Given the description of an element on the screen output the (x, y) to click on. 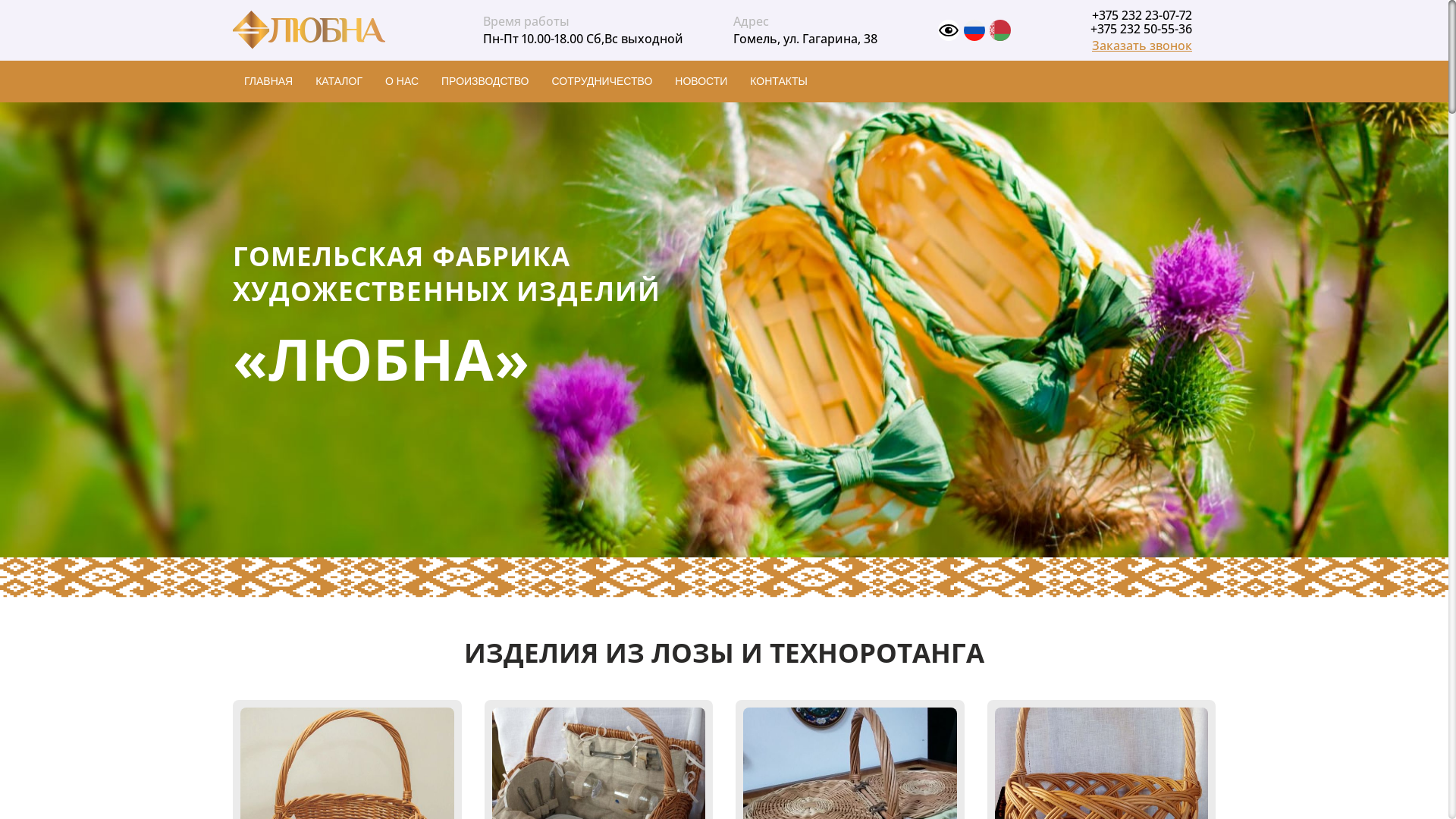
+375 232 23-07-72 Element type: text (1142, 14)
+375 232 50-55-36 Element type: text (1141, 28)
